Given the description of an element on the screen output the (x, y) to click on. 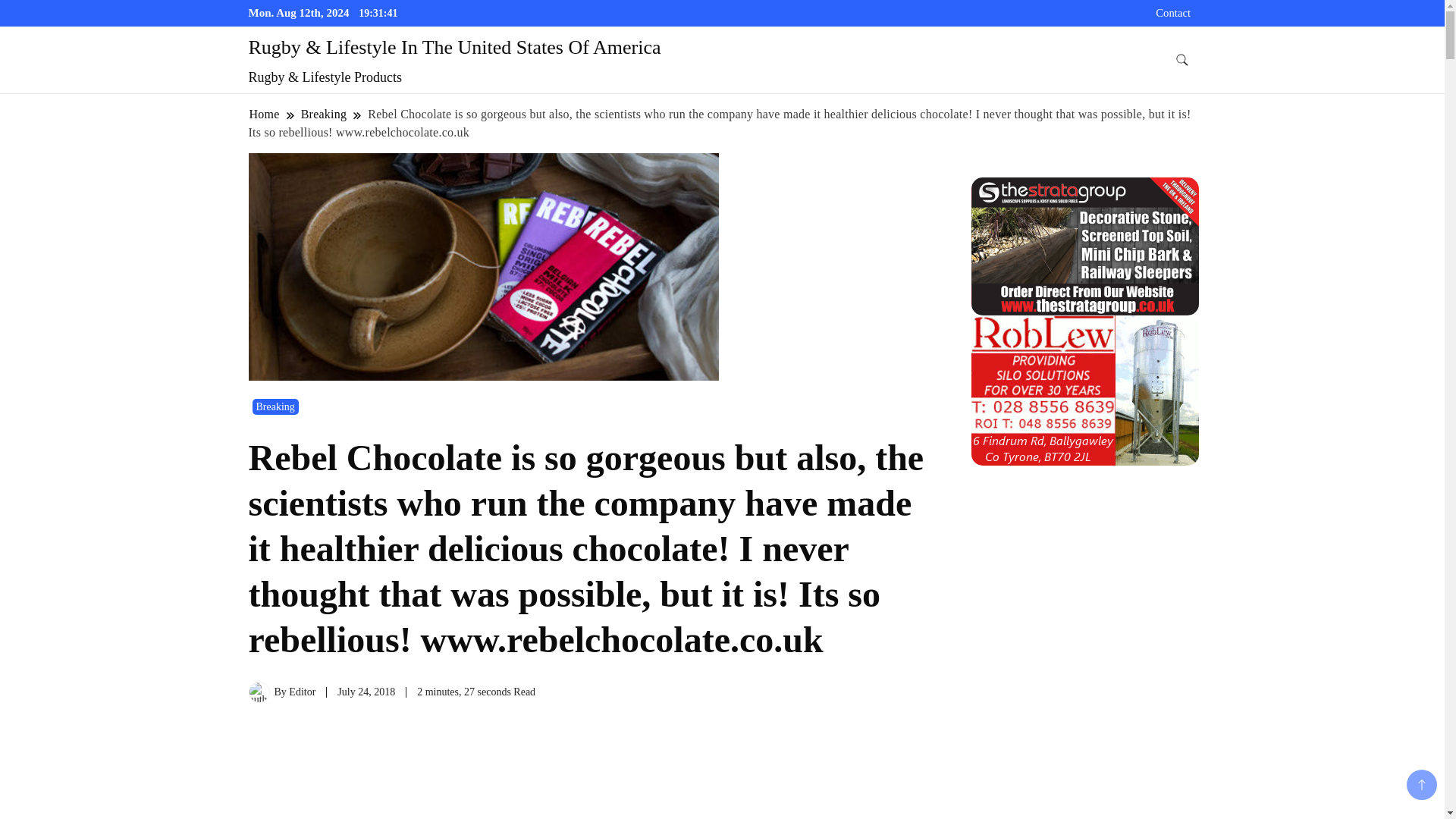
Contact (1173, 12)
Editor (301, 691)
Home (264, 114)
July 24, 2018 (365, 691)
Breaking (274, 406)
Breaking (323, 114)
